Given the description of an element on the screen output the (x, y) to click on. 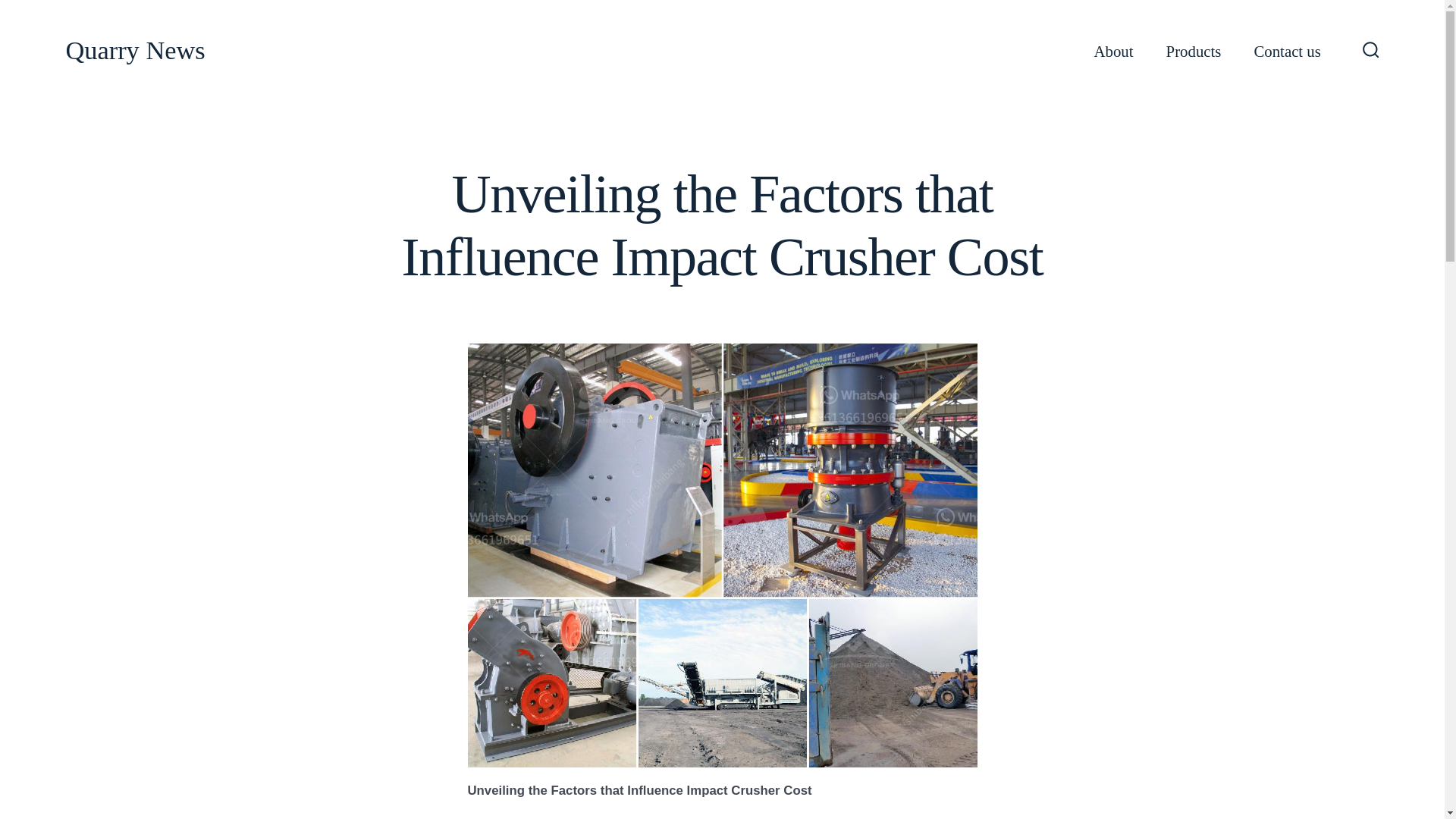
Search Toggle (1371, 50)
About (1114, 51)
Contact us (1286, 51)
Quarry News (135, 51)
Products (1193, 51)
